Given the description of an element on the screen output the (x, y) to click on. 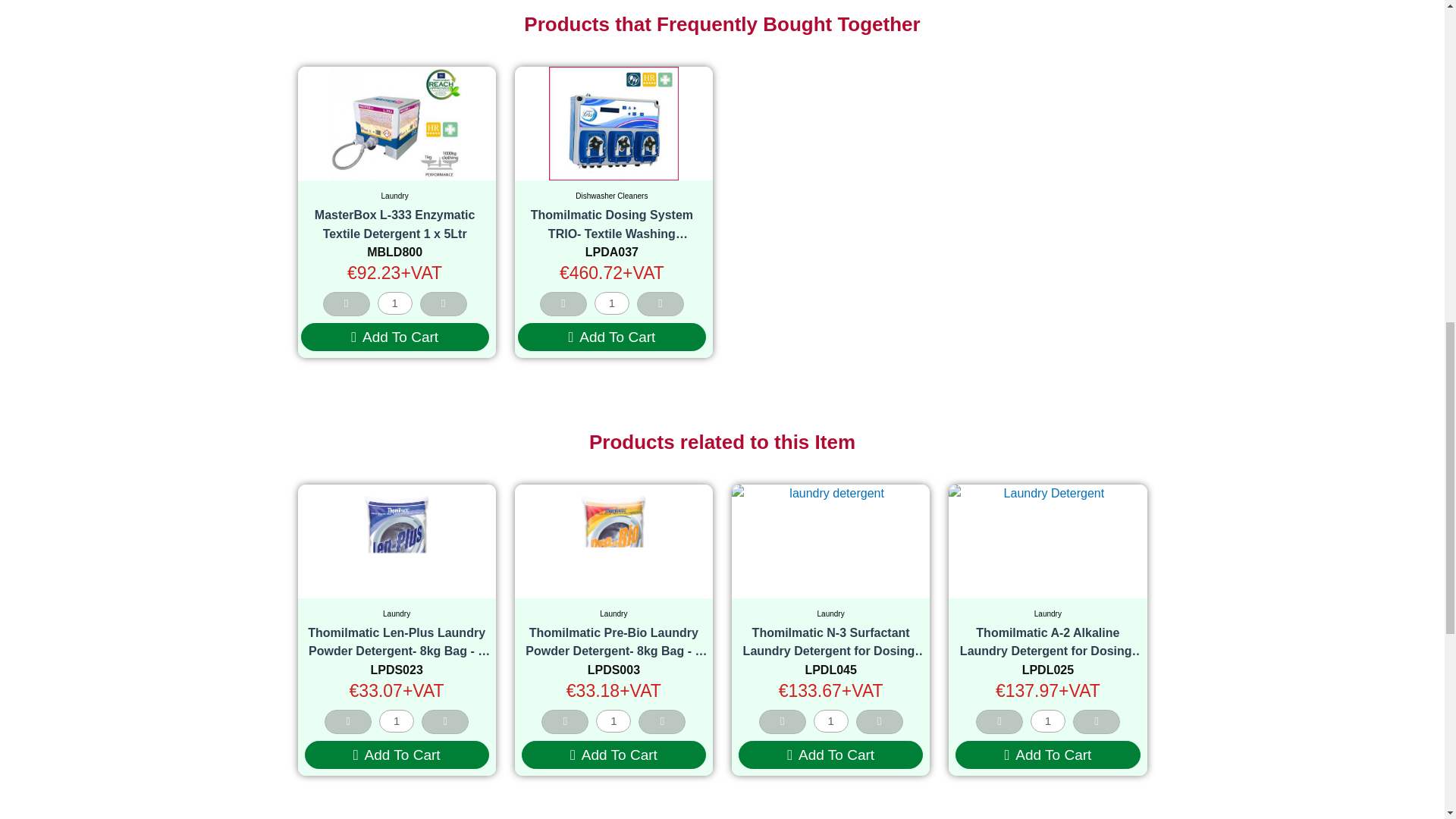
1 (395, 721)
1 (830, 721)
1 (612, 721)
1 (611, 302)
1 (394, 302)
1 (1047, 721)
